Given the description of an element on the screen output the (x, y) to click on. 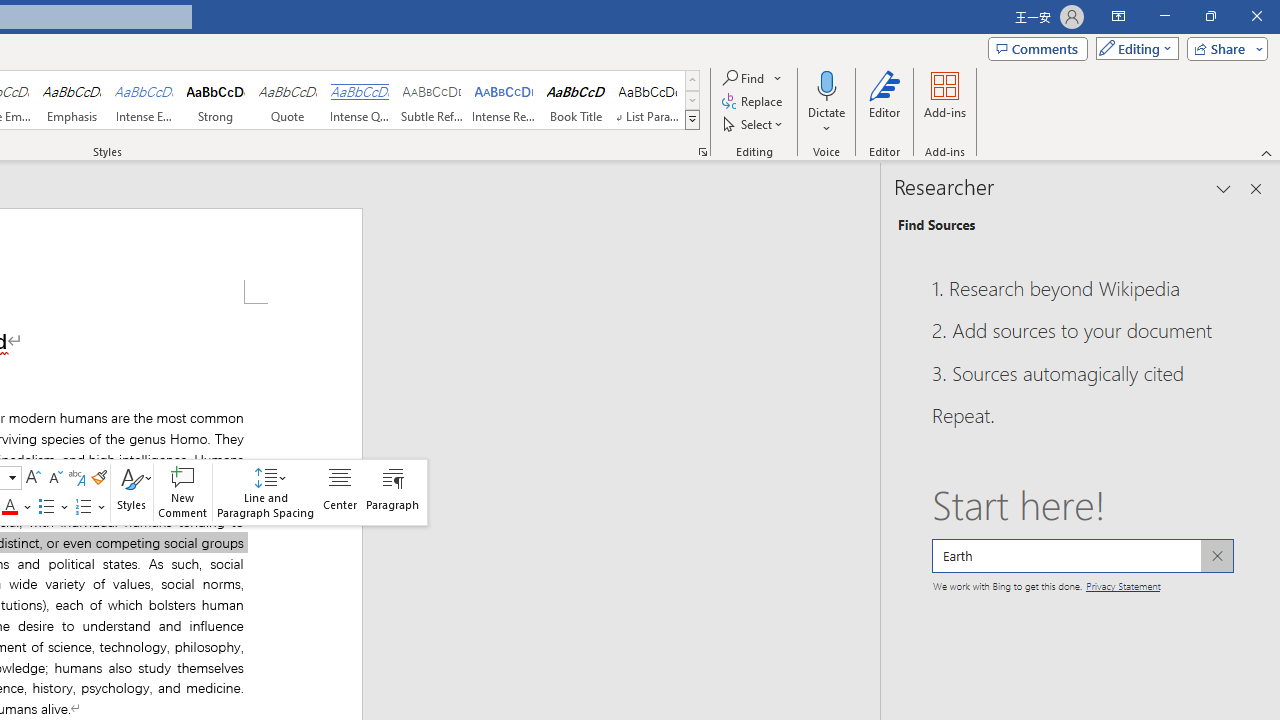
New Comment (182, 492)
Strong (216, 100)
Find Sources (936, 224)
Quote (287, 100)
